Given the description of an element on the screen output the (x, y) to click on. 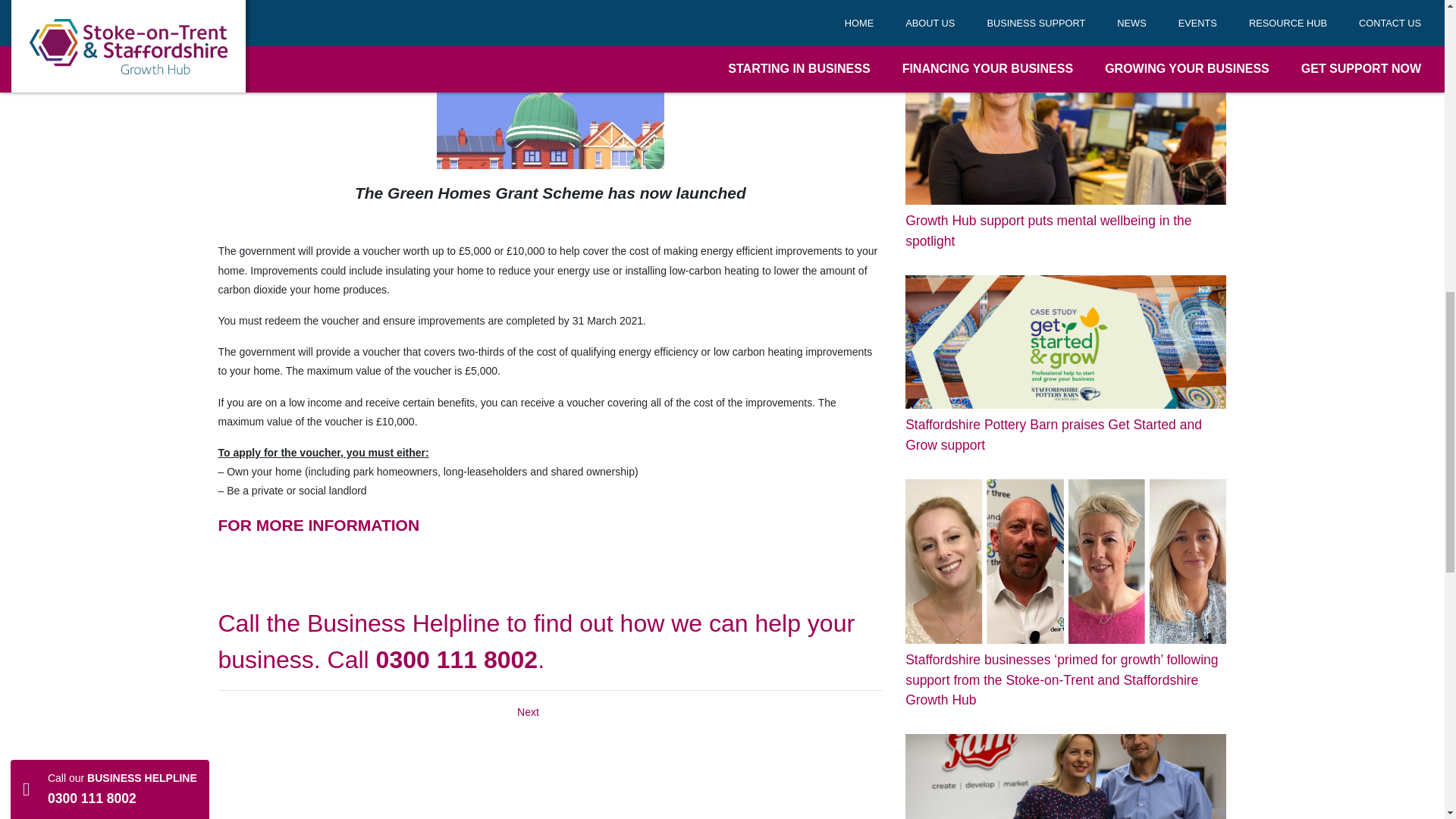
Growth Hub support puts mental wellbeing in the spotlight (1065, 160)
Next (527, 711)
FOR MORE INFORMATION (319, 524)
